Given the description of an element on the screen output the (x, y) to click on. 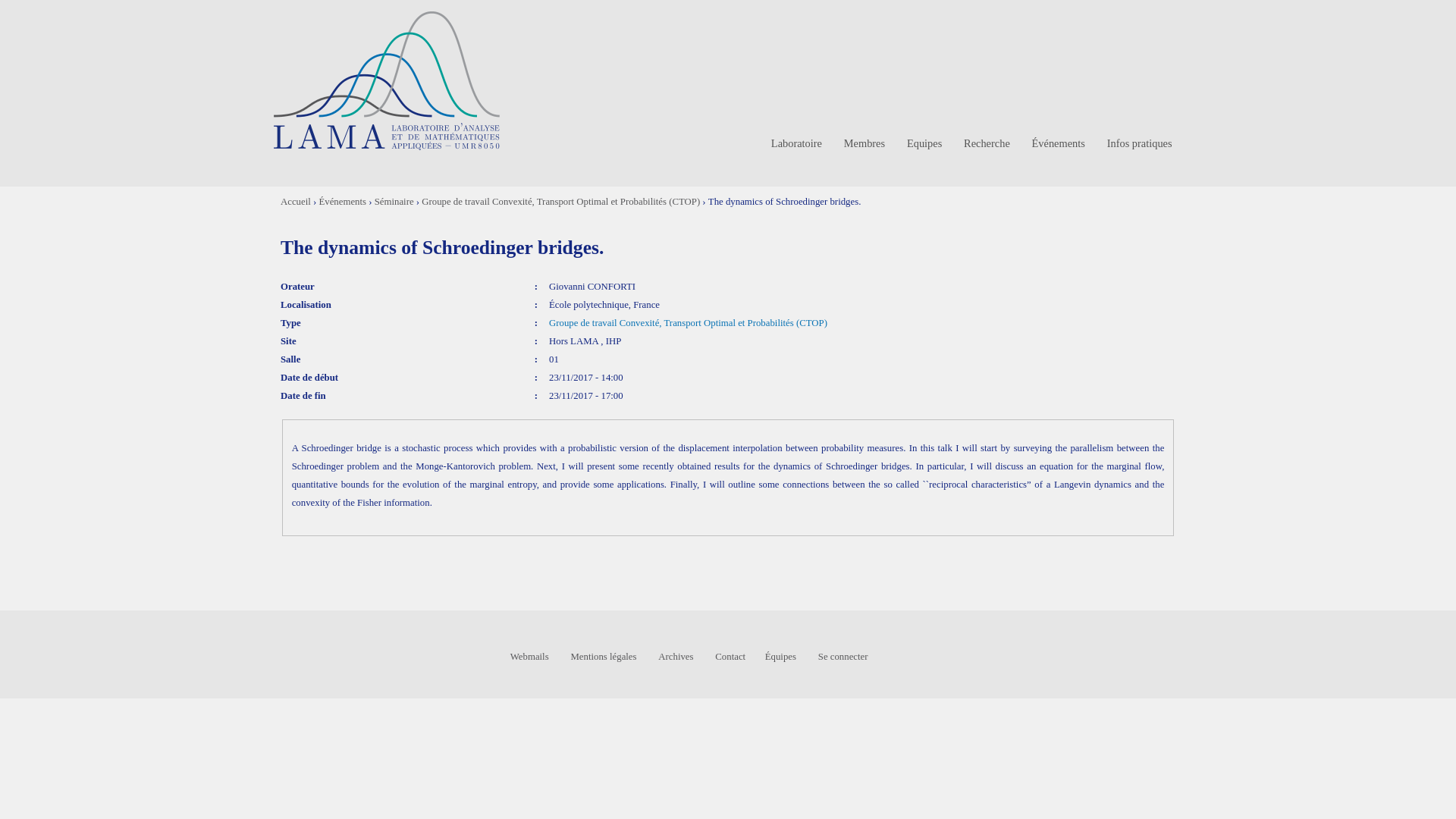
Membres (863, 144)
Infos pratiques (1139, 144)
Recherche (987, 144)
Laboratoire (796, 144)
Equipes (924, 144)
